Given the description of an element on the screen output the (x, y) to click on. 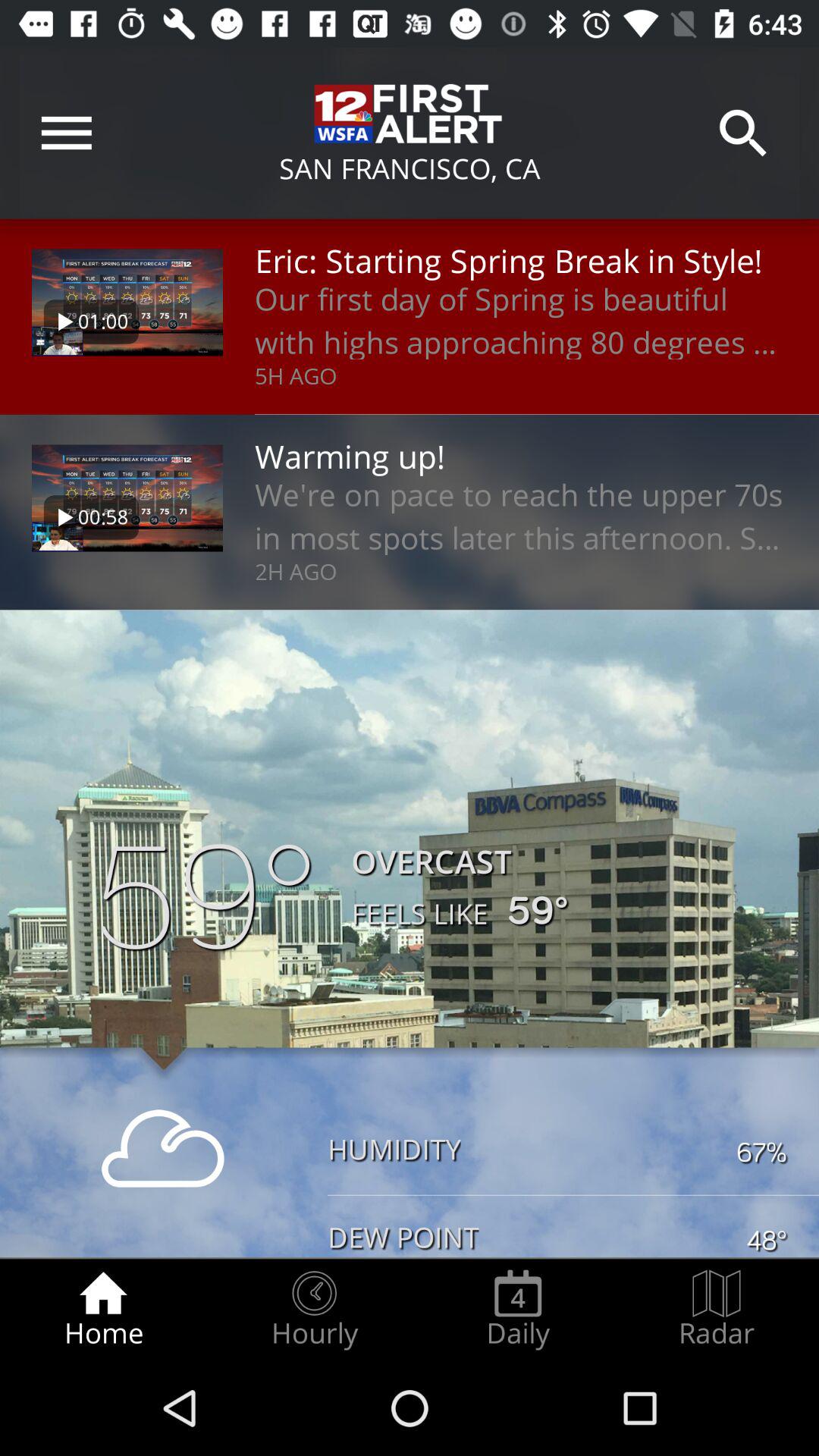
press the radio button to the left of the radar radio button (518, 1309)
